Given the description of an element on the screen output the (x, y) to click on. 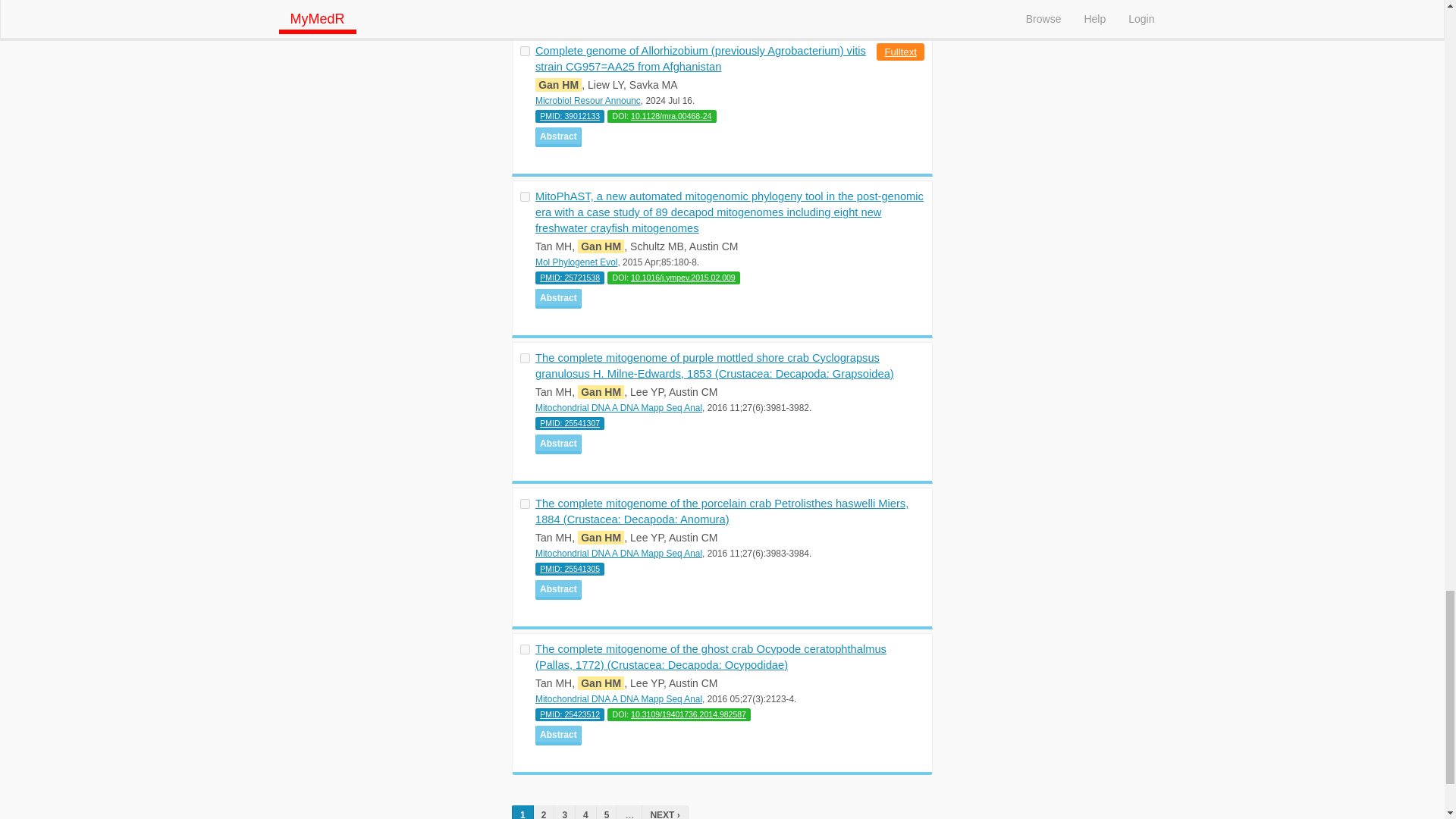
on (524, 50)
on (524, 357)
on (524, 196)
on (524, 503)
